Given the description of an element on the screen output the (x, y) to click on. 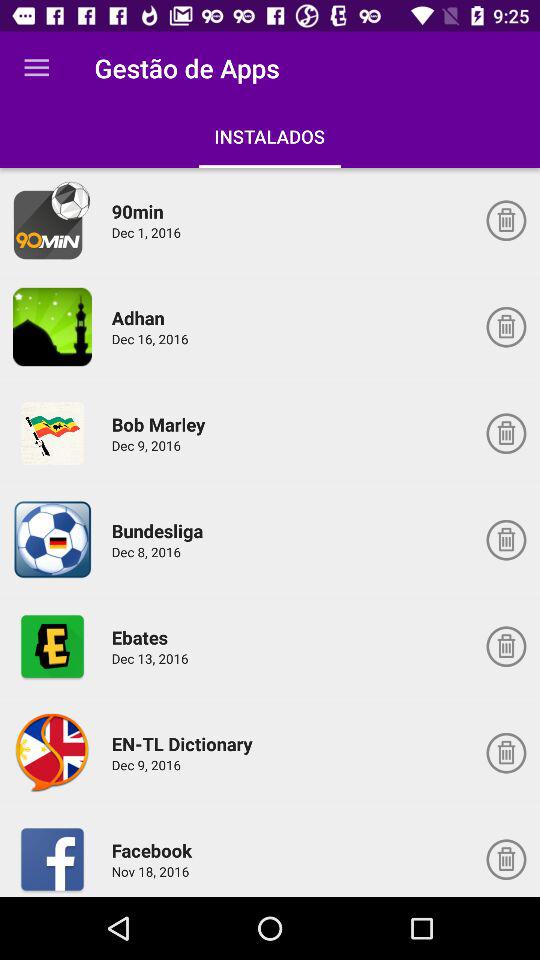
button to uninstall the app (505, 220)
